Given the description of an element on the screen output the (x, y) to click on. 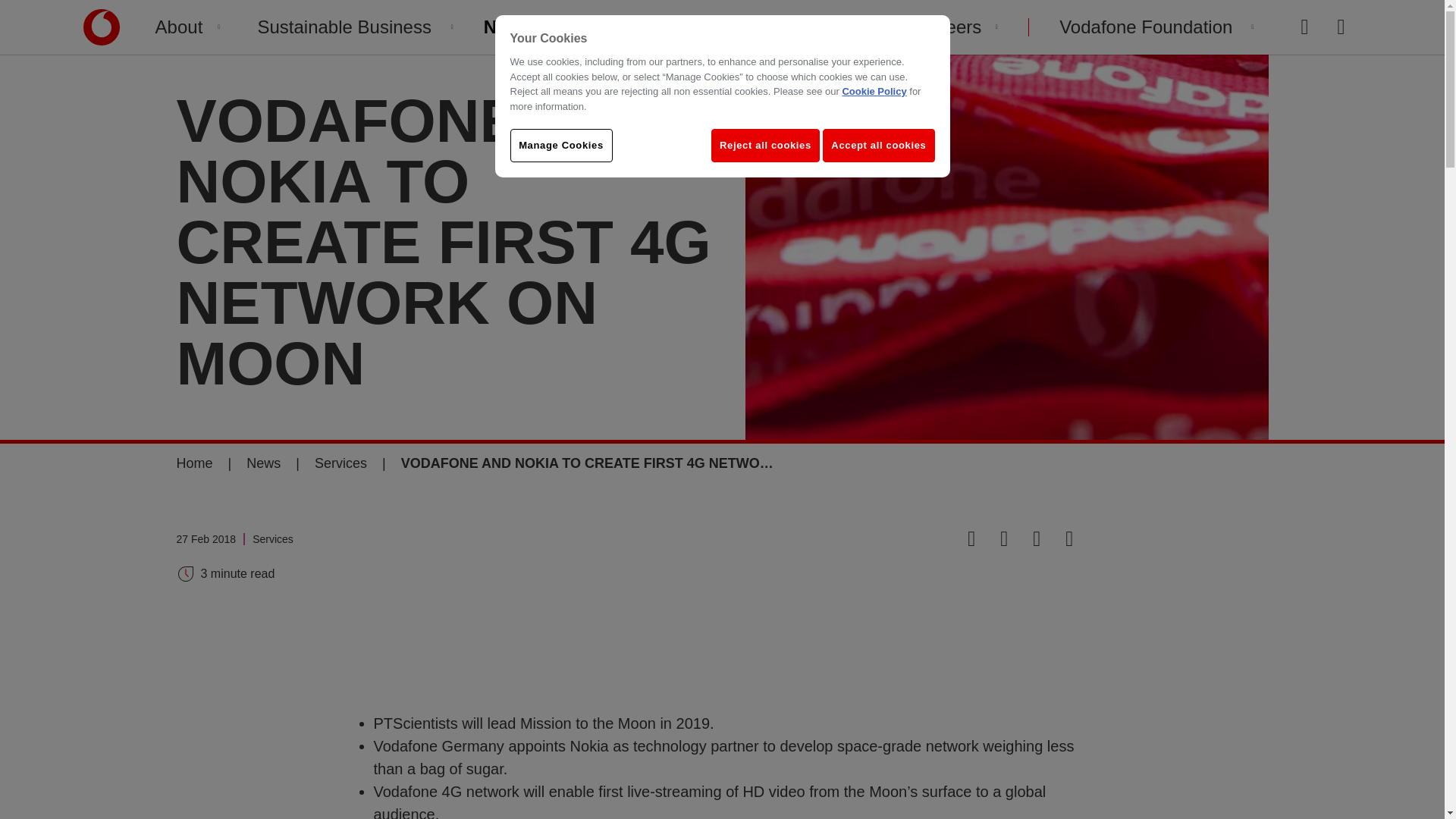
About (188, 27)
